Given the description of an element on the screen output the (x, y) to click on. 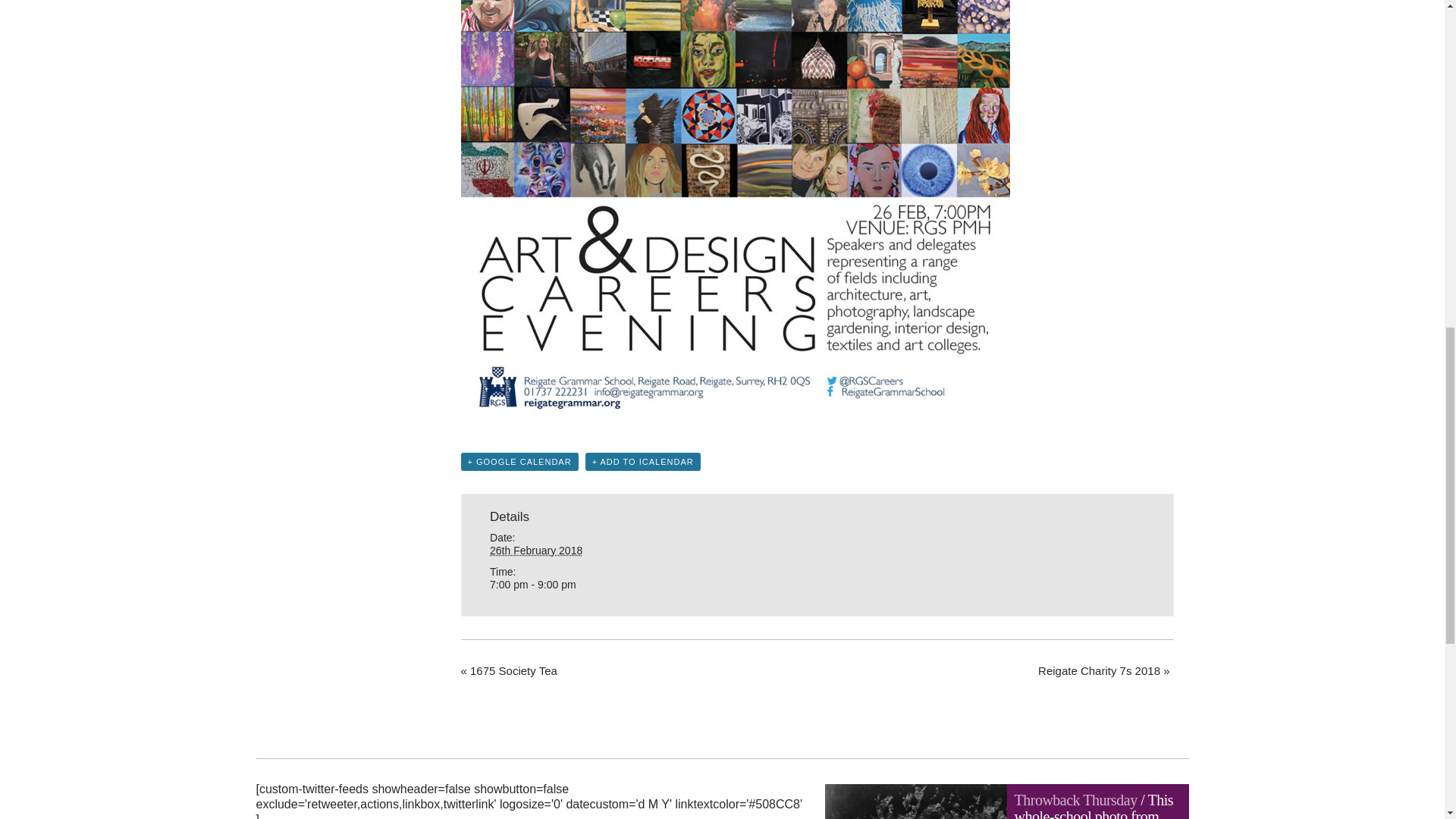
2018-02-26 (535, 550)
2018-02-26 (579, 584)
Download .ics file (642, 461)
Add to Google Calendar (519, 461)
